Given the description of an element on the screen output the (x, y) to click on. 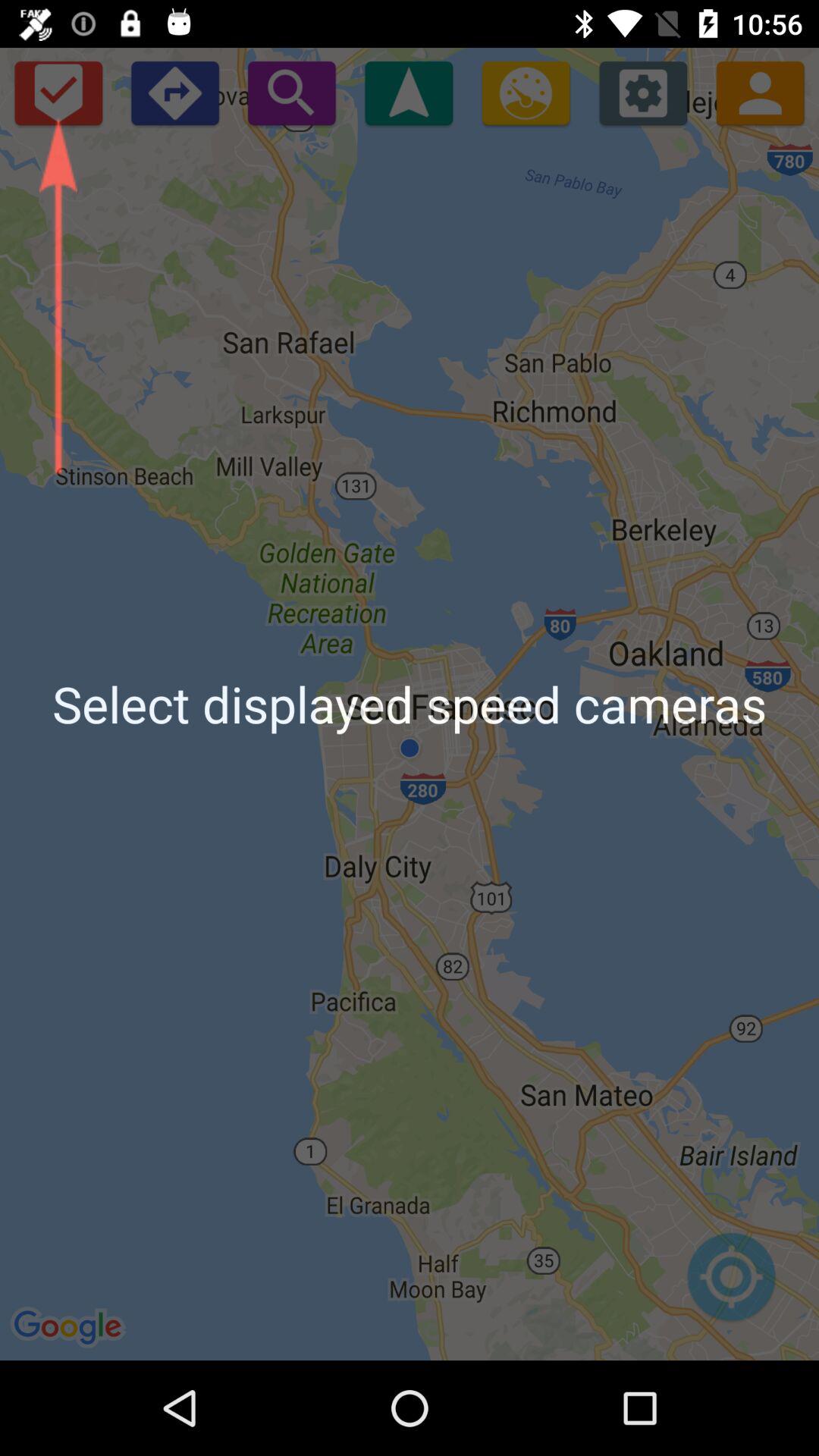
tap app above select displayed speed app (525, 92)
